Given the description of an element on the screen output the (x, y) to click on. 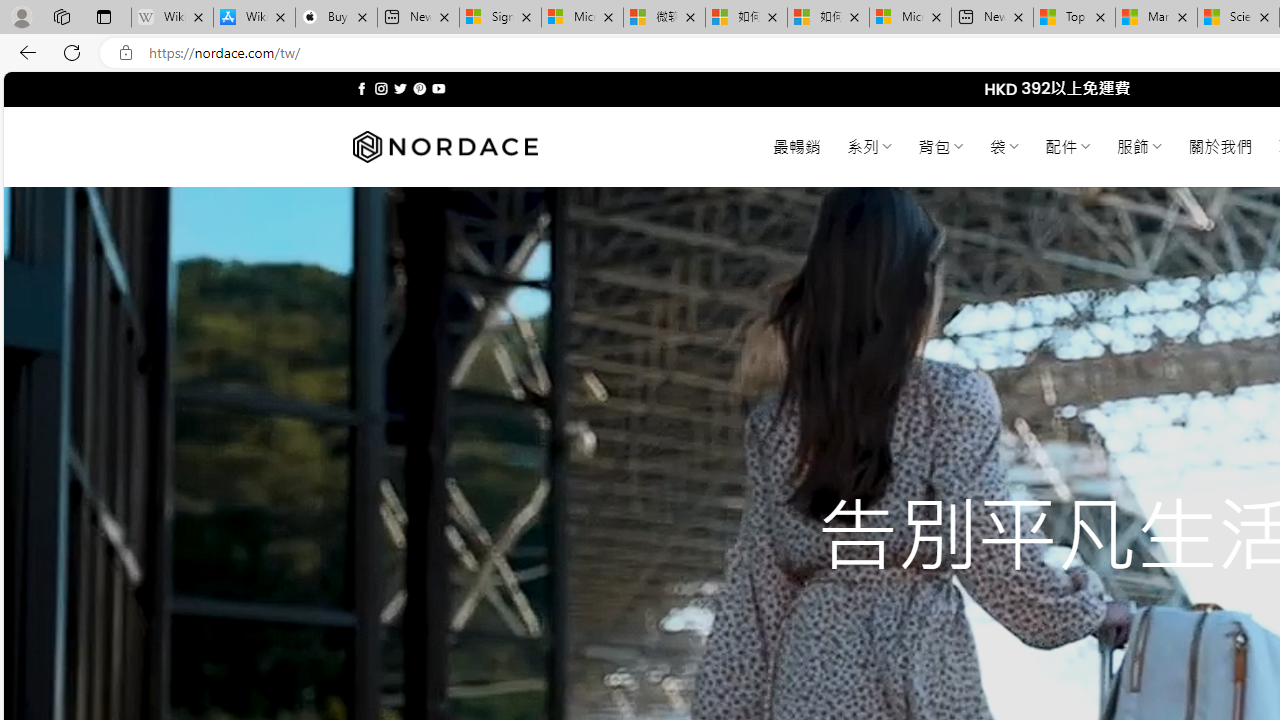
Follow on Instagram (381, 88)
Microsoft Services Agreement (582, 17)
Follow on Twitter (400, 88)
